Given the description of an element on the screen output the (x, y) to click on. 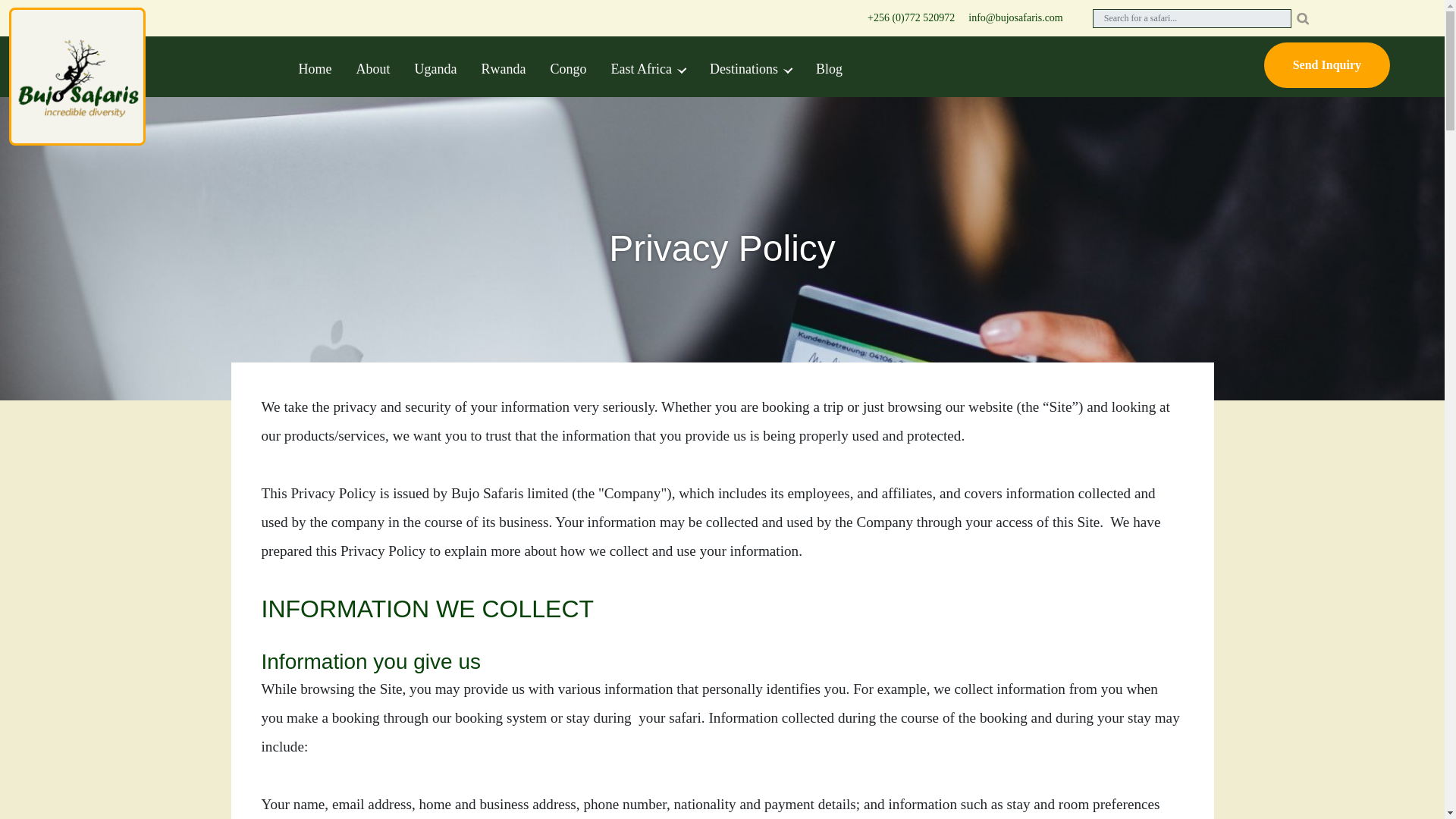
Congo (567, 65)
Uganda (434, 65)
Home (314, 65)
Destinations (750, 65)
About (373, 65)
East Africa (647, 65)
submit (1302, 18)
Rwanda (502, 65)
